Given the description of an element on the screen output the (x, y) to click on. 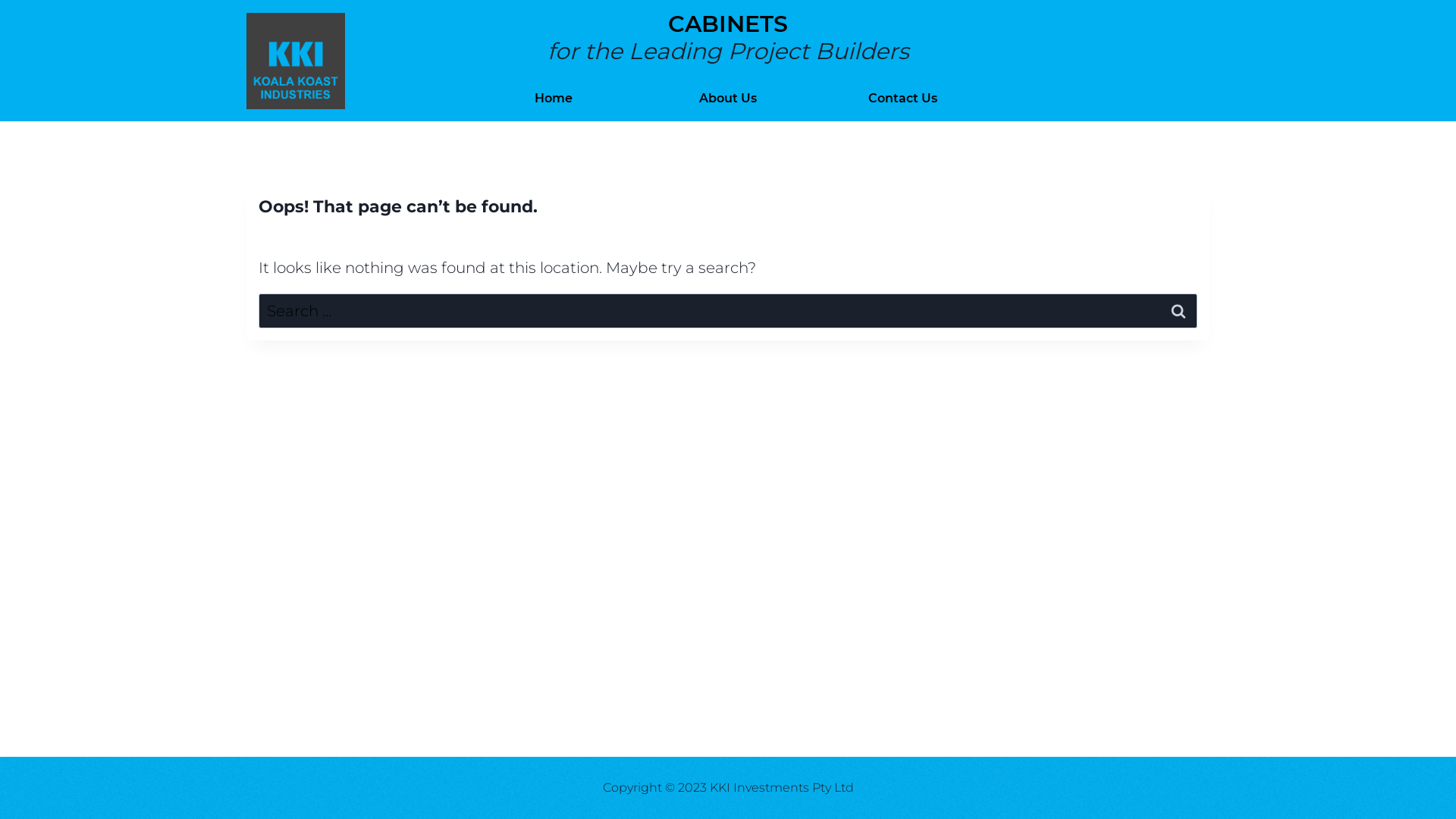
Search Element type: text (1178, 310)
Contact Us Element type: text (902, 98)
About Us Element type: text (727, 98)
Home Element type: text (553, 98)
